Given the description of an element on the screen output the (x, y) to click on. 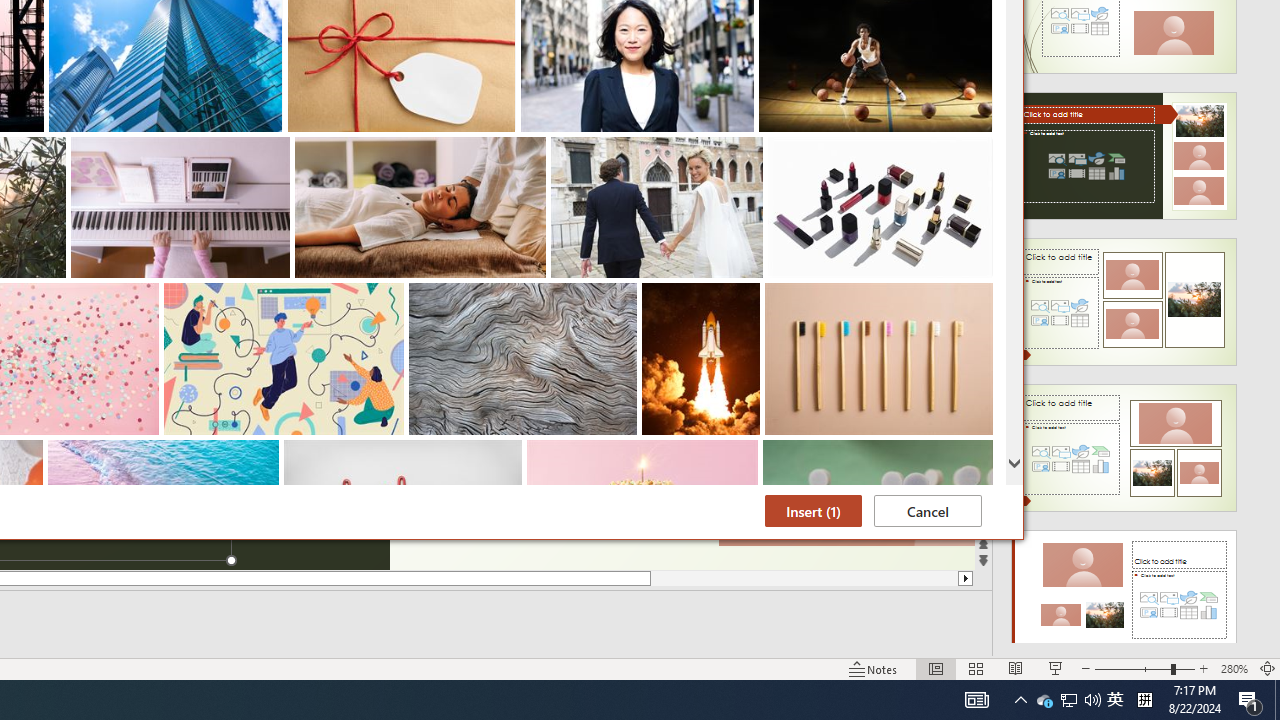
Cancel (927, 511)
Notification Chevron (1020, 699)
Thumbnail (977, 454)
Slide Show (1069, 699)
Action Center, 1 new notification (1055, 668)
Normal (1250, 699)
Tray Input Indicator - Chinese (Simplified, China) (936, 668)
Slide Sorter (1144, 699)
